Given the description of an element on the screen output the (x, y) to click on. 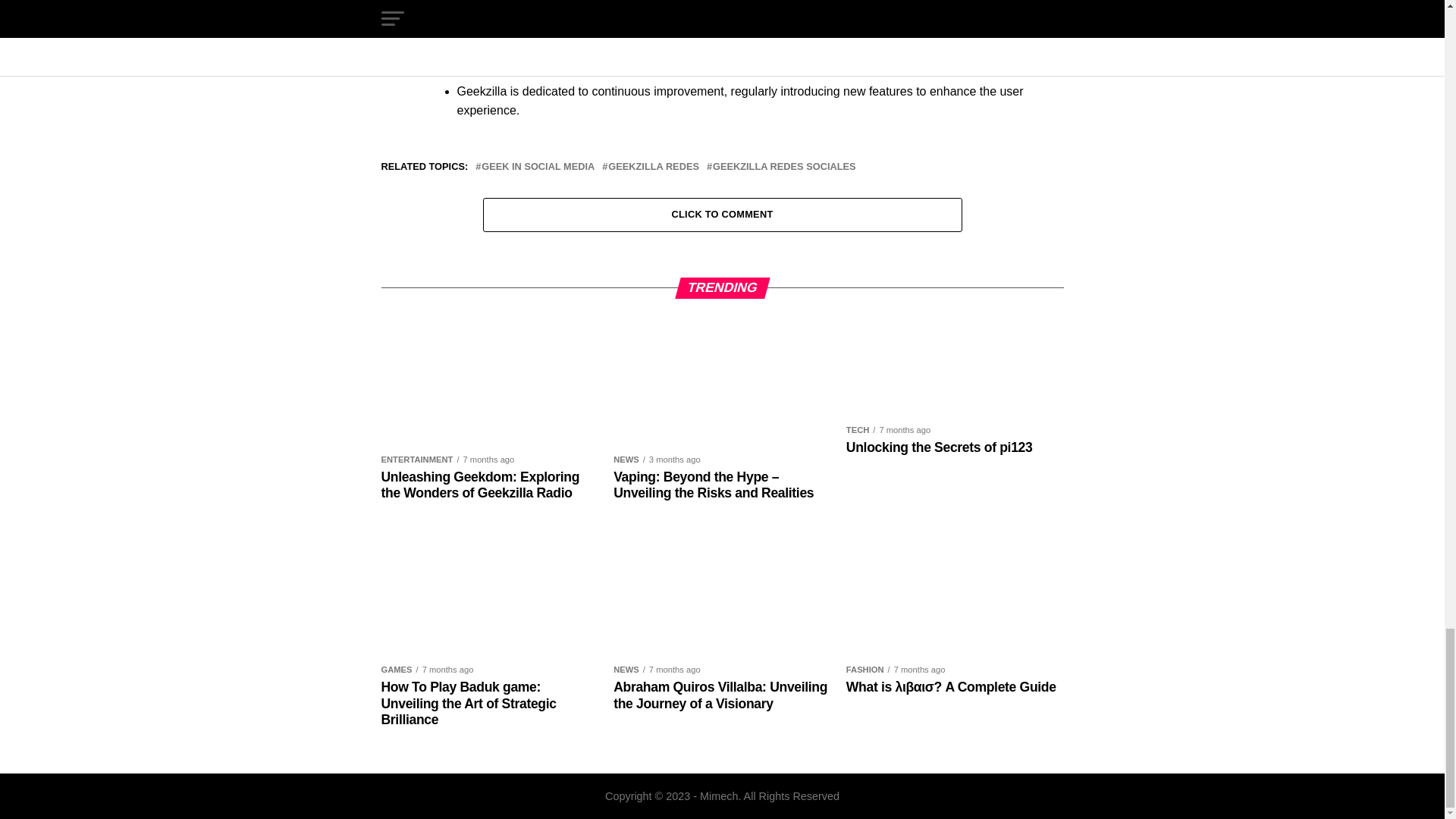
GEEK IN SOCIAL MEDIA (537, 166)
GEEKZILLA REDES (653, 166)
GEEKZILLA REDES SOCIALES (784, 166)
